Given the description of an element on the screen output the (x, y) to click on. 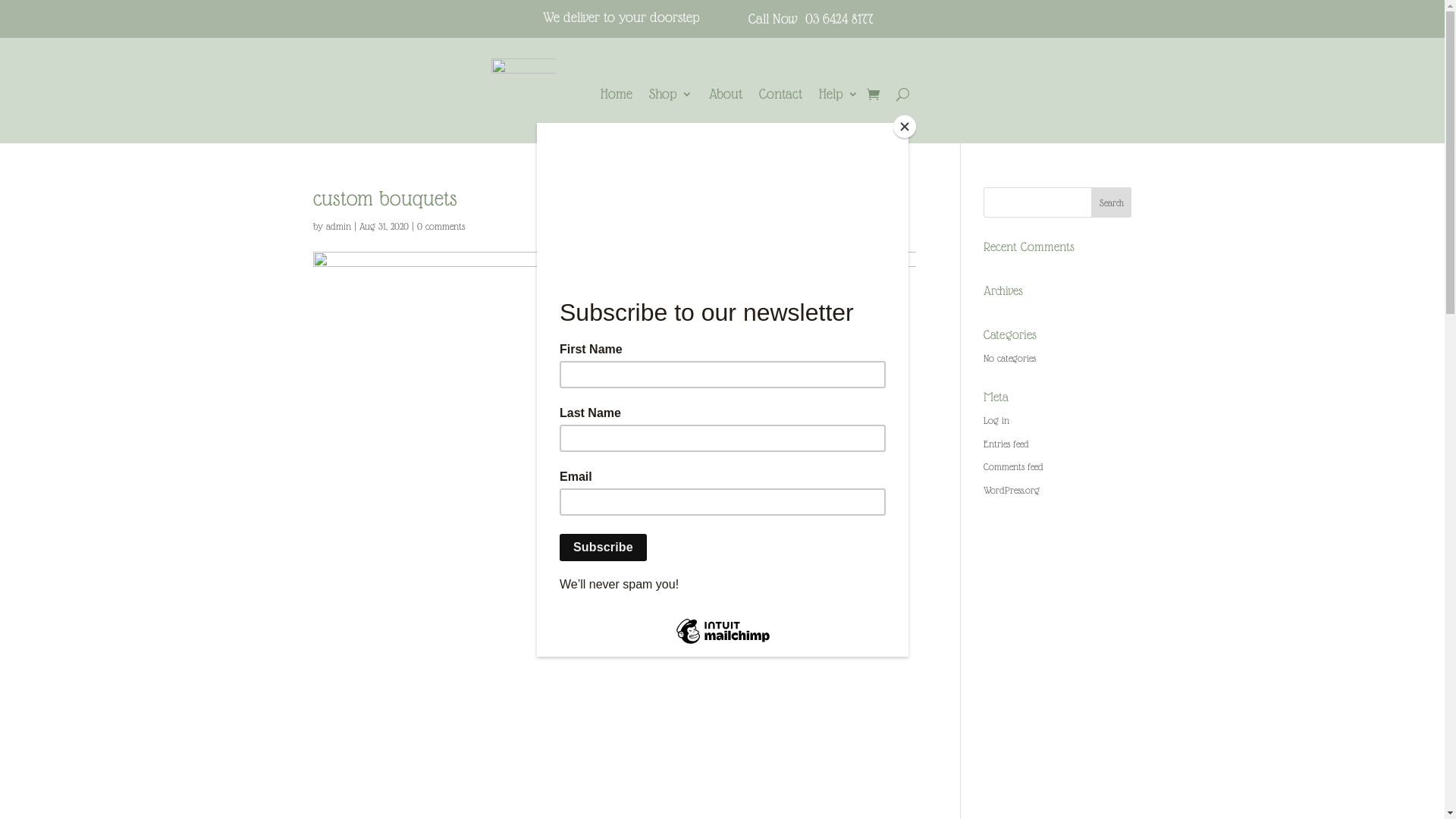
Contact Element type: text (780, 96)
Search Element type: text (1111, 202)
Home Element type: text (616, 96)
Log in Element type: text (996, 420)
WordPress.org Element type: text (1011, 489)
Entries feed Element type: text (1006, 443)
0 comments Element type: text (440, 226)
Comments feed Element type: text (1013, 466)
admin Element type: text (338, 226)
Circular Pattern w Element type: hover (523, 90)
Shop Element type: text (670, 96)
About Element type: text (725, 96)
Help Element type: text (838, 96)
